Given the description of an element on the screen output the (x, y) to click on. 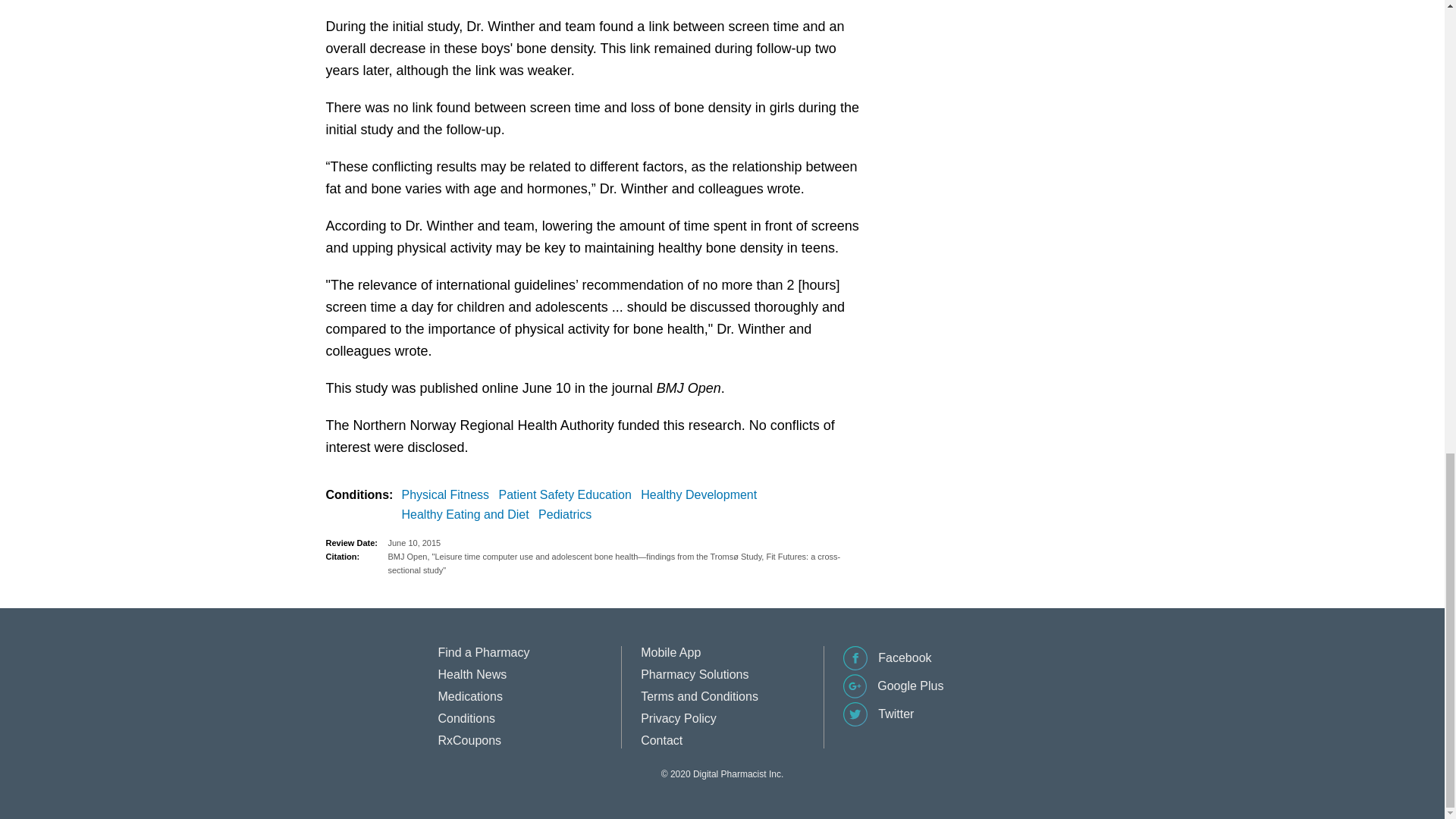
Pediatrics (567, 514)
Patient Safety Education (568, 495)
Physical Fitness (448, 495)
Healthy Development (701, 495)
Healthy Eating and Diet (468, 514)
